Given the description of an element on the screen output the (x, y) to click on. 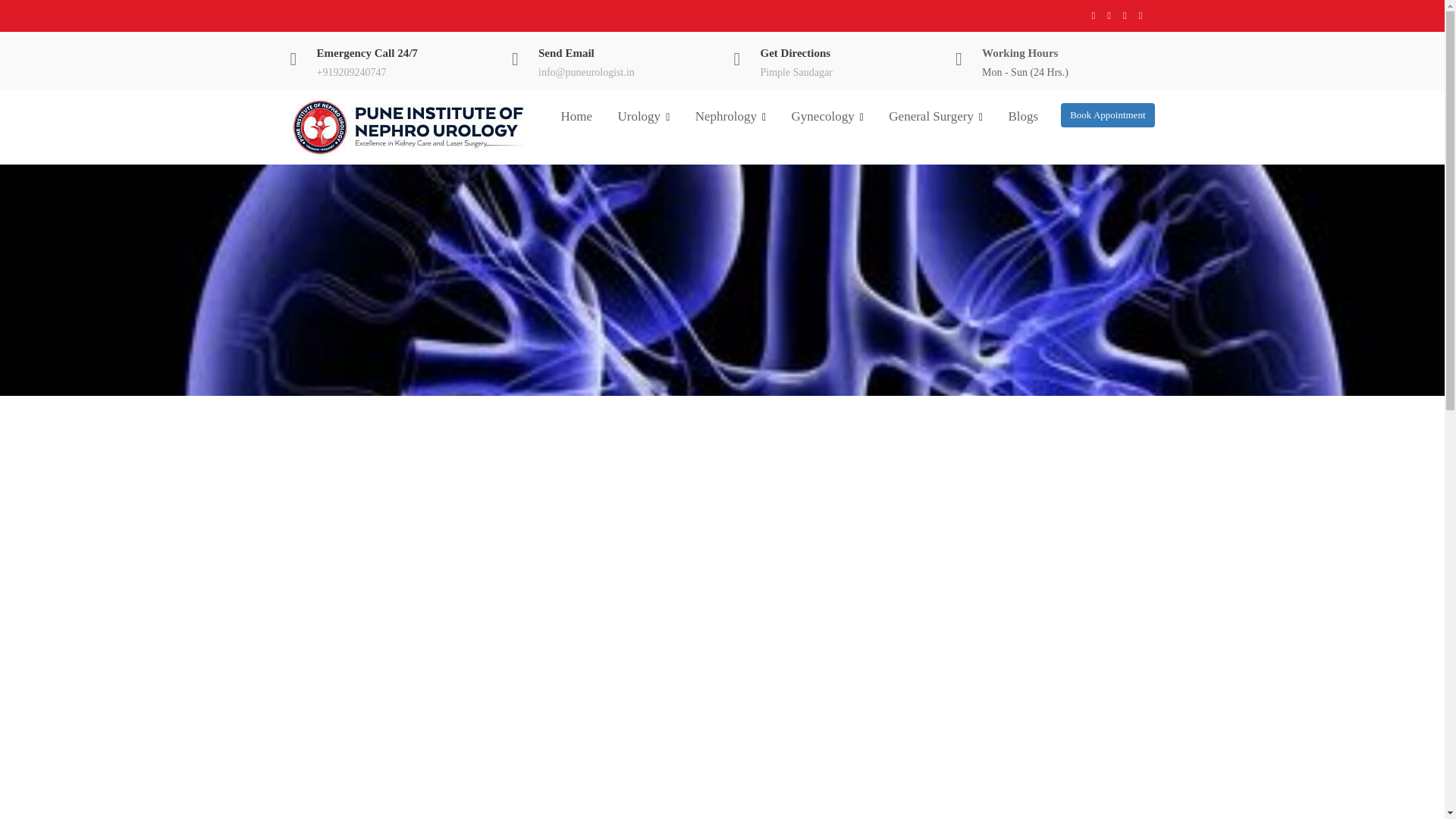
Send Email (566, 52)
Home (576, 116)
Urology (643, 116)
Gynecology (827, 116)
Nephrology (730, 116)
Book Appointment (1107, 115)
Pimple Saudagar (795, 71)
Get Directions (794, 52)
